Given the description of an element on the screen output the (x, y) to click on. 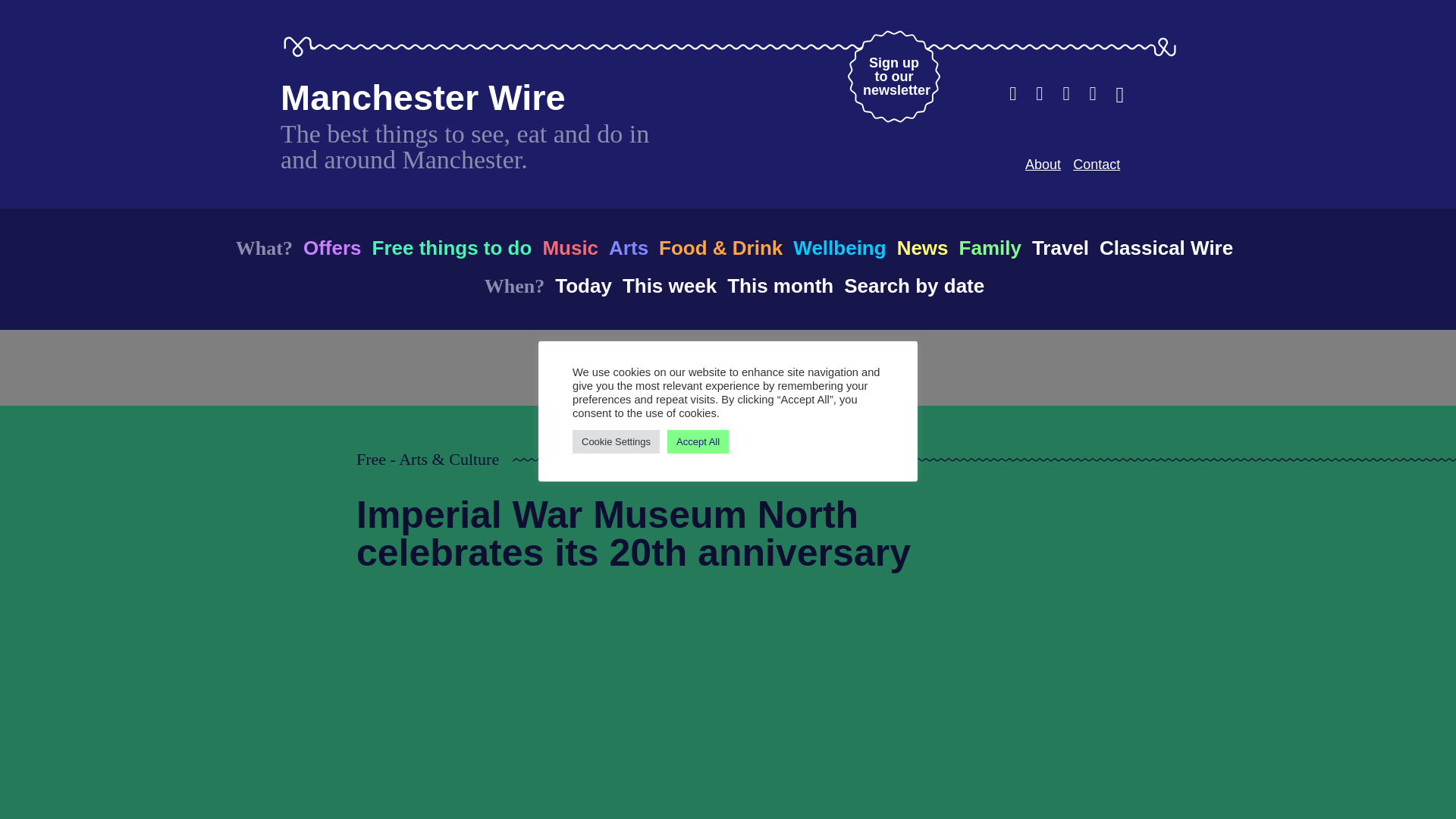
About (893, 76)
Music (1043, 164)
Free things to do (569, 248)
News (451, 248)
This week (922, 248)
Arts (669, 285)
This month (627, 248)
Manchester Wire (779, 285)
Today (423, 96)
Family (582, 285)
Travel (990, 248)
Contact (1060, 248)
Wellbeing (1096, 164)
Classical Wire (839, 248)
